Given the description of an element on the screen output the (x, y) to click on. 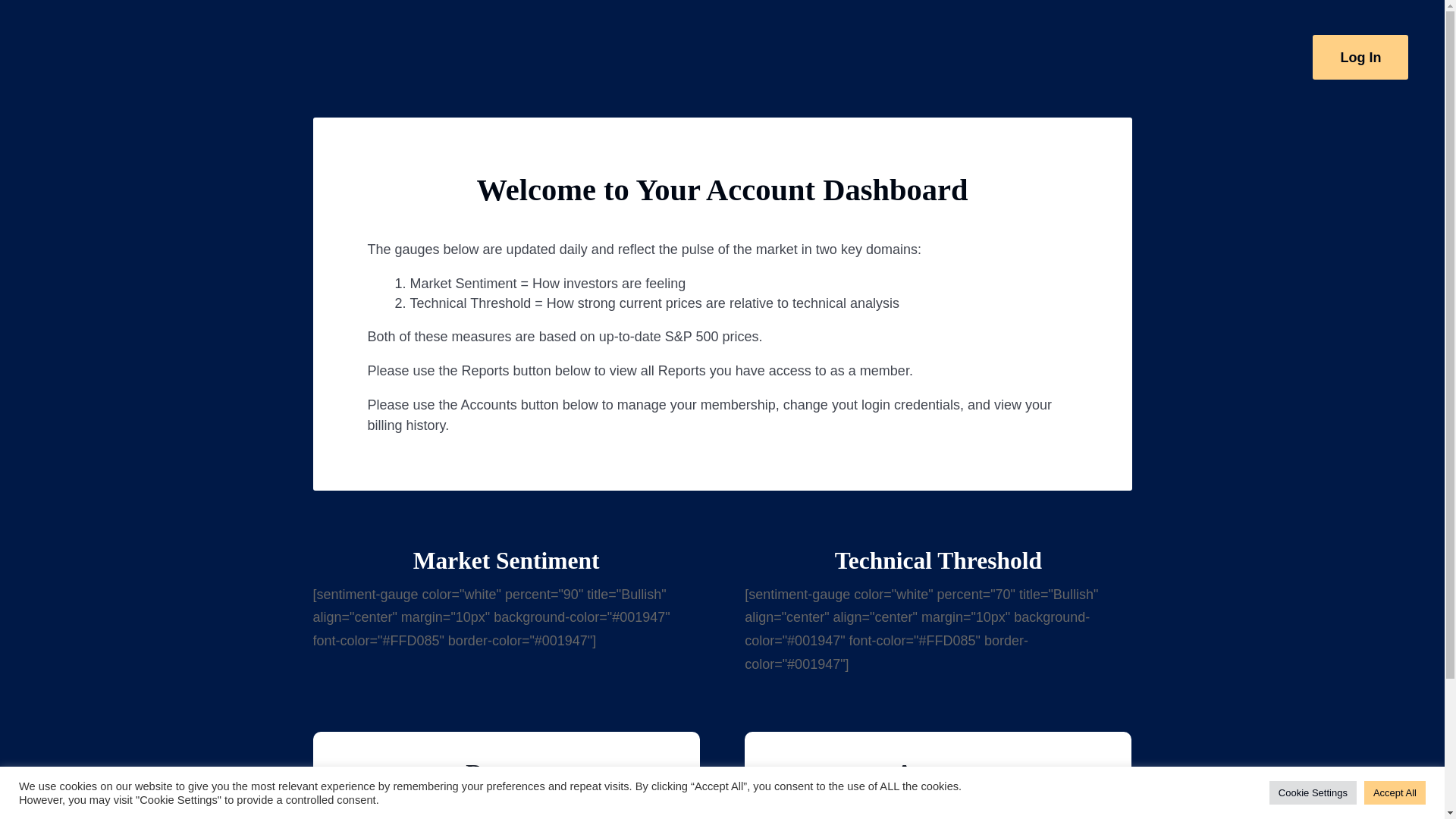
Log In (1360, 57)
Accept All (1394, 792)
Cookie Settings (1312, 792)
